Given the description of an element on the screen output the (x, y) to click on. 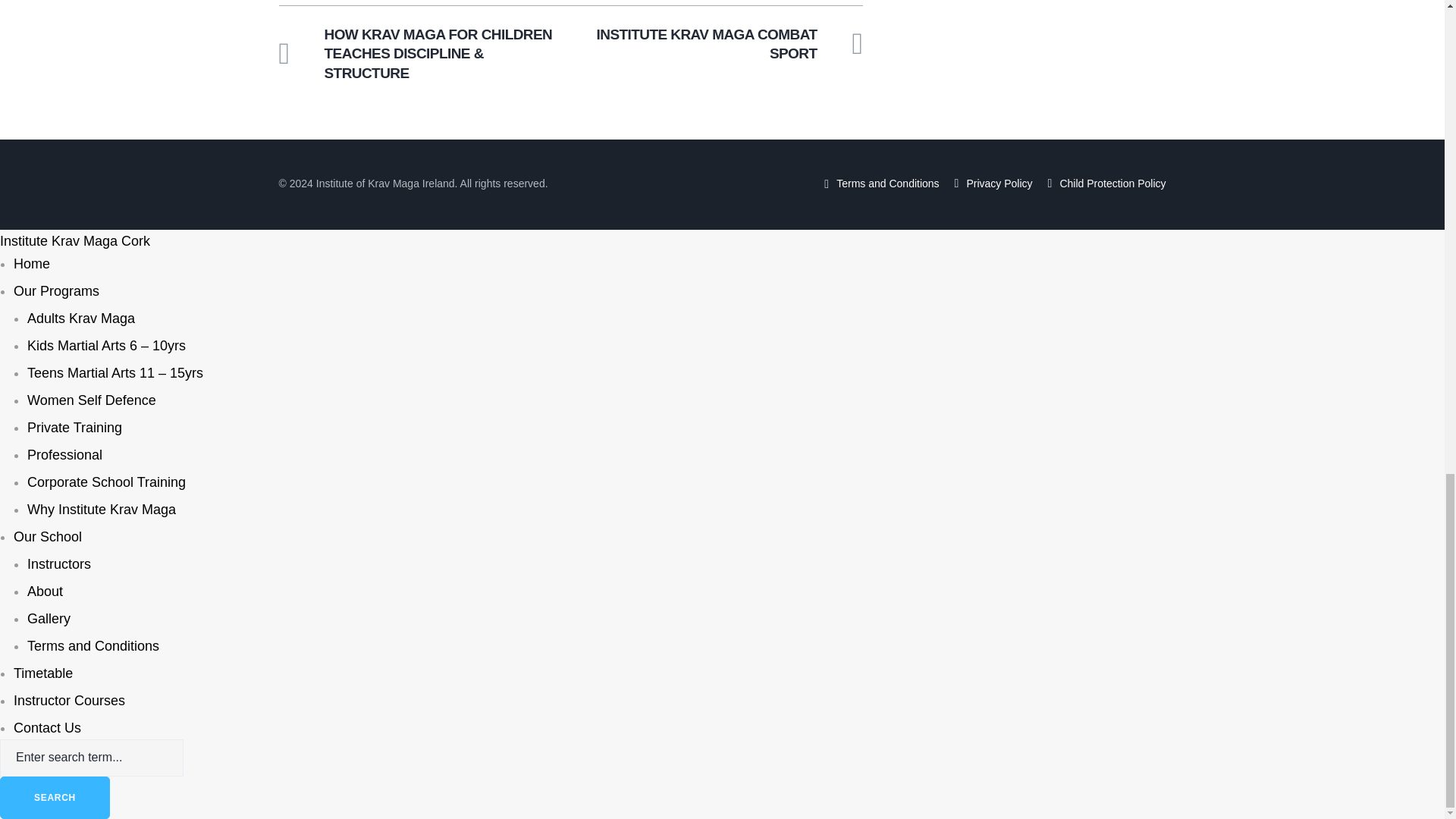
Terms and Conditions (887, 184)
Privacy Policy (999, 184)
INSTITUTE KRAV MAGA COMBAT SPORT (722, 44)
Child Protection Policy (1112, 184)
